Given the description of an element on the screen output the (x, y) to click on. 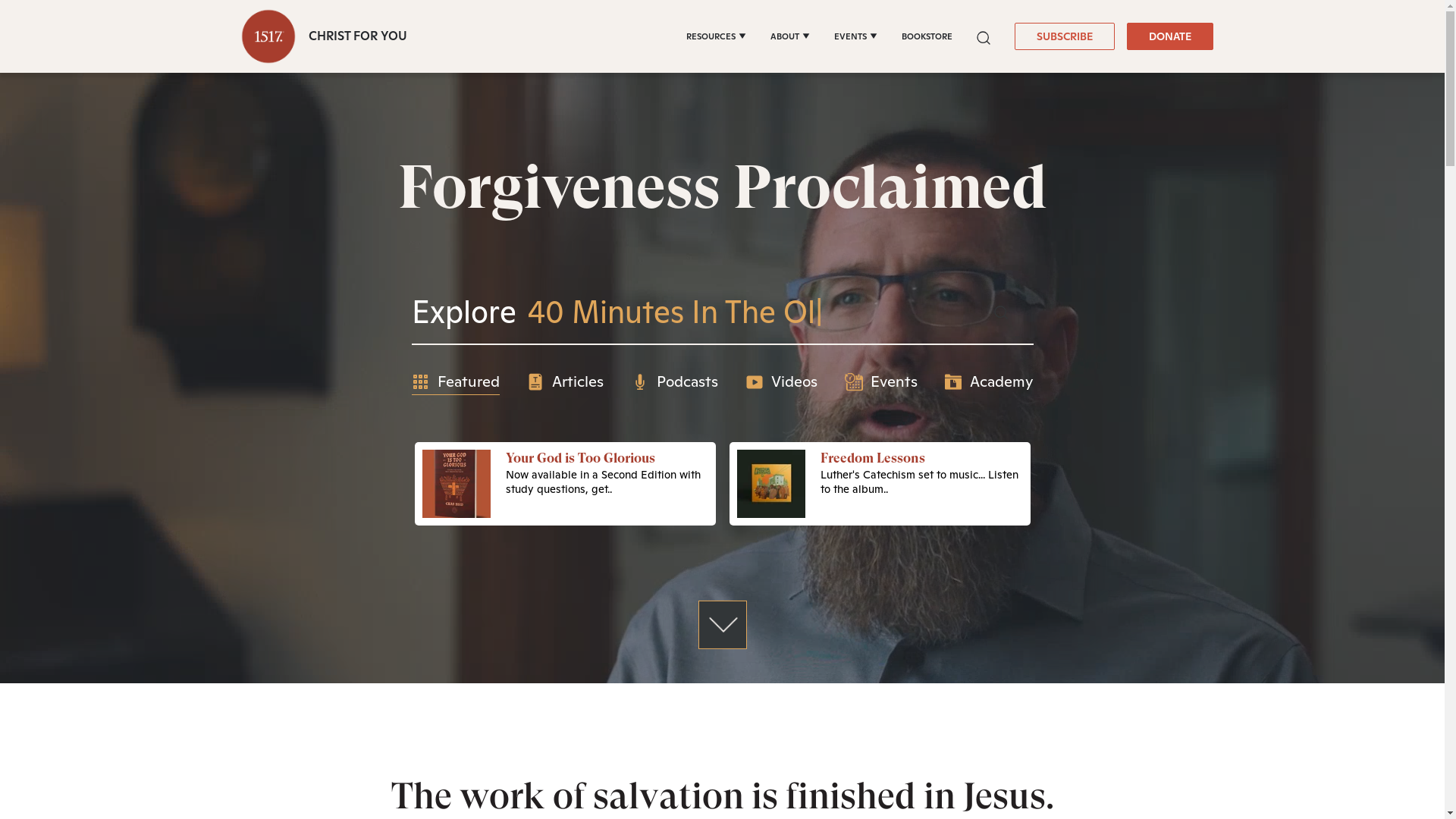
ABOUT Element type: text (790, 35)
DONATE Element type: text (1169, 36)
BOOKSTORE Element type: text (925, 35)
EVENTS Element type: text (855, 35)
RESOURCES Element type: text (715, 35)
CHRIST FOR YOU Element type: text (319, 36)
SUBSCRIBE Element type: text (1064, 36)
